Given the description of an element on the screen output the (x, y) to click on. 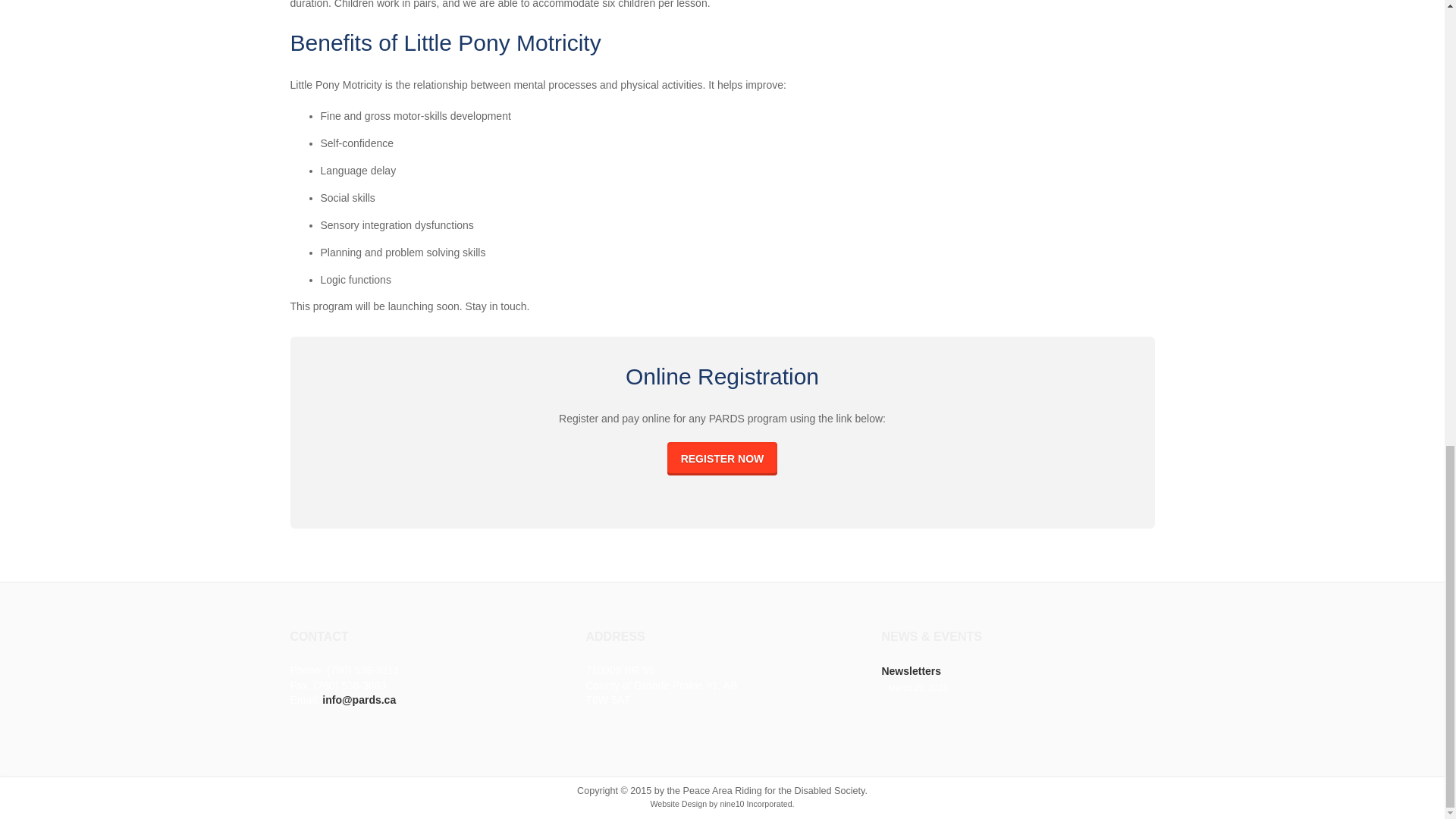
Newsletters (910, 671)
